Given the description of an element on the screen output the (x, y) to click on. 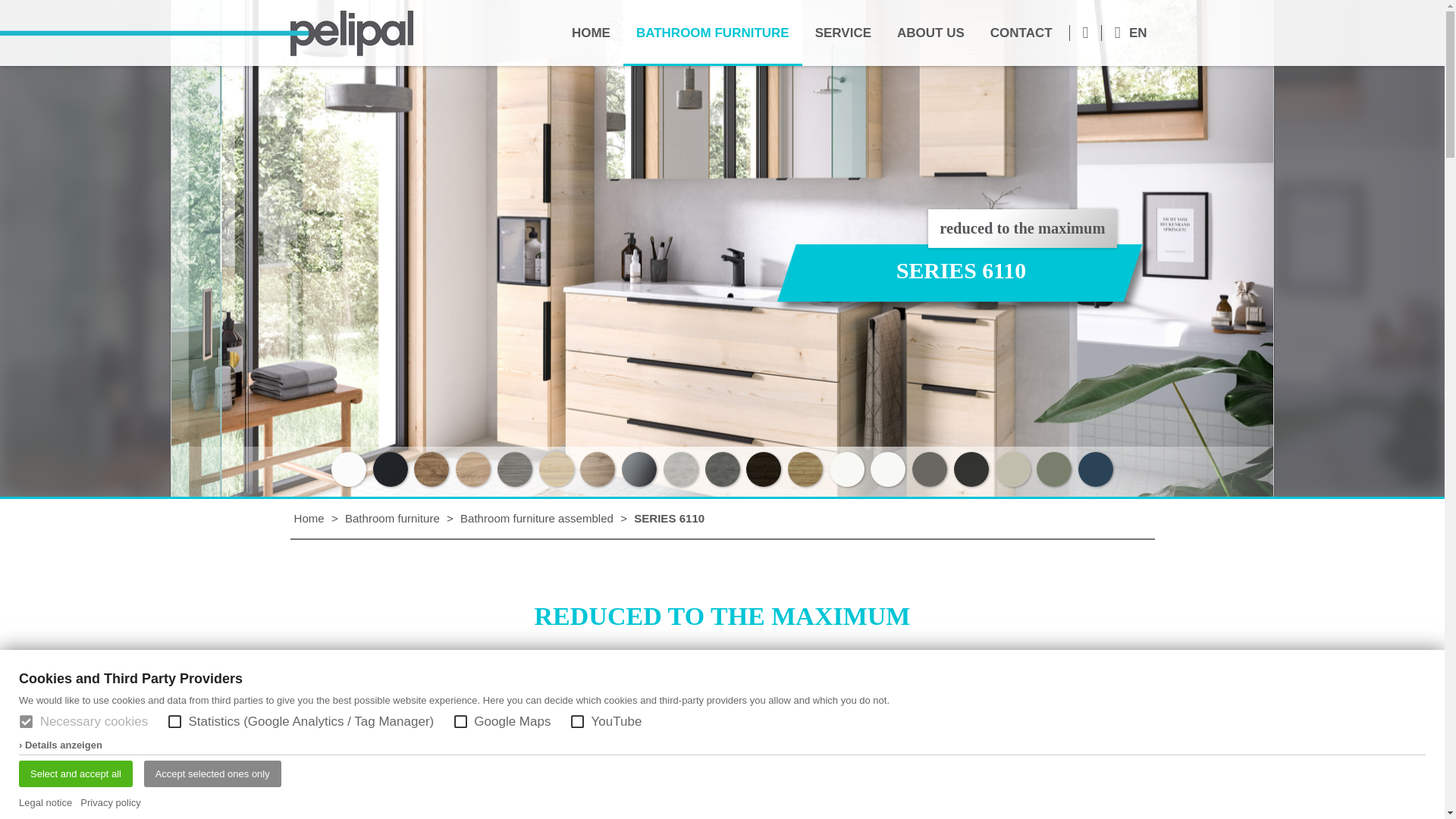
SERIES 6110 (668, 517)
SERVICE (842, 33)
ABOUT US (929, 33)
BATHROOM FURNITURE (712, 33)
Home (309, 517)
HOME (591, 33)
Bathroom furniture assembled (536, 517)
Bathroom furniture (392, 517)
CONTACT (1020, 33)
